Given the description of an element on the screen output the (x, y) to click on. 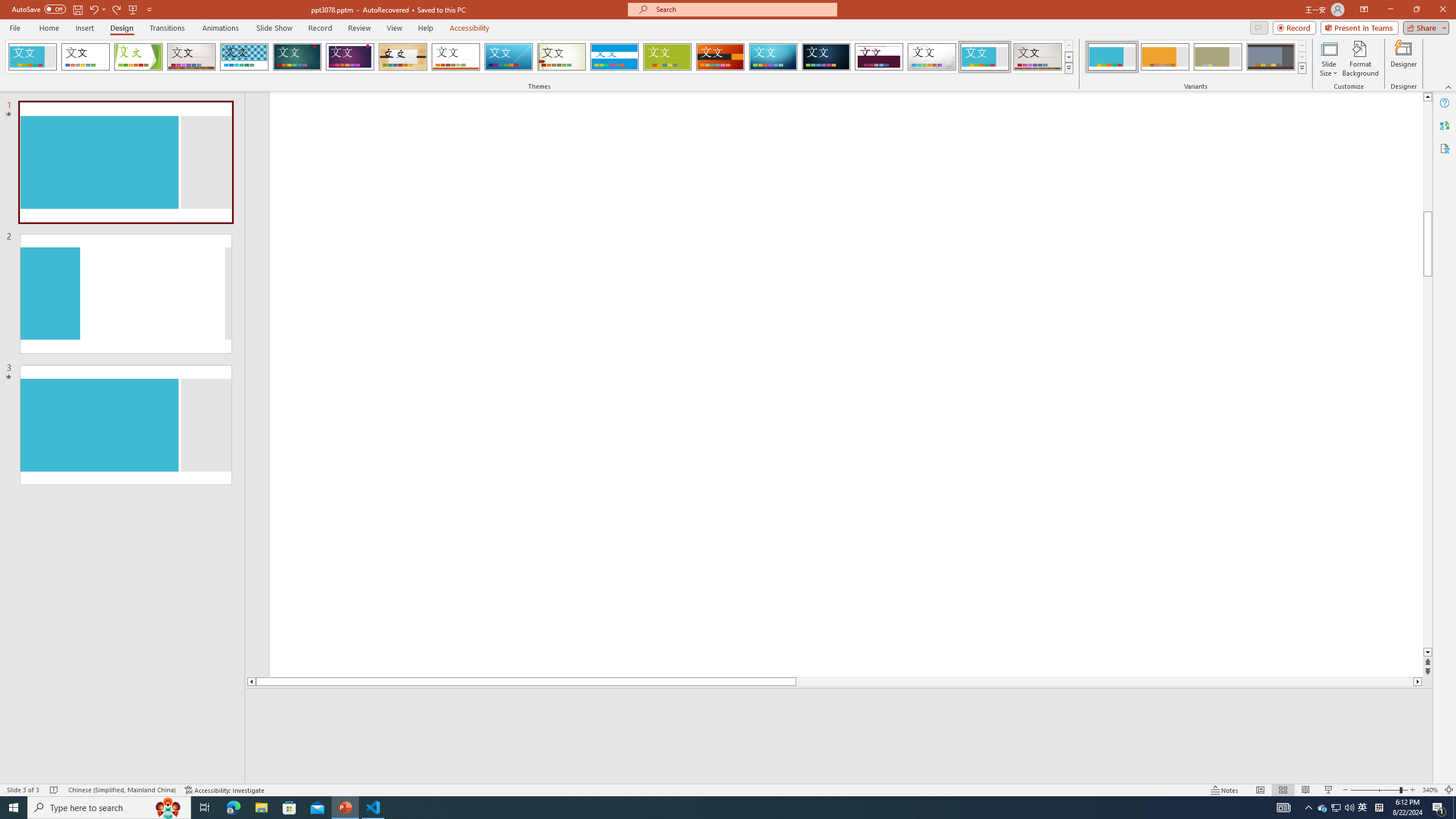
Damask (826, 56)
Wisp (561, 56)
Ion Boardroom (350, 56)
Frame Variant 2 (1164, 56)
